Given the description of an element on the screen output the (x, y) to click on. 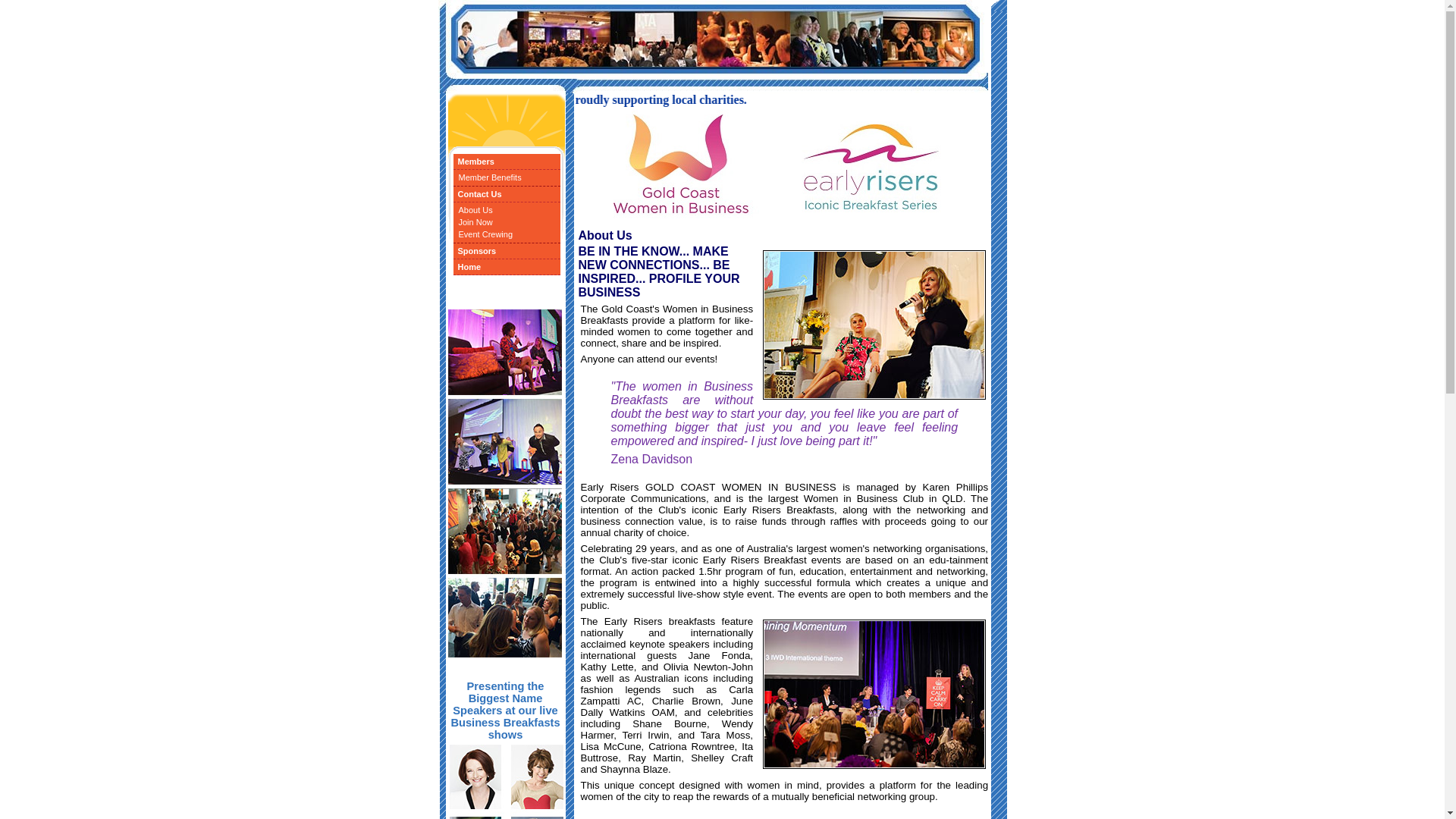
Event Crewing Element type: text (504, 234)
About Us Element type: text (504, 209)
Sponsors Element type: text (506, 251)
Members Element type: text (506, 161)
Home Element type: text (506, 267)
Member Benefits Element type: text (504, 177)
Join Now Element type: text (504, 222)
Contact Us Element type: text (506, 194)
